Given the description of an element on the screen output the (x, y) to click on. 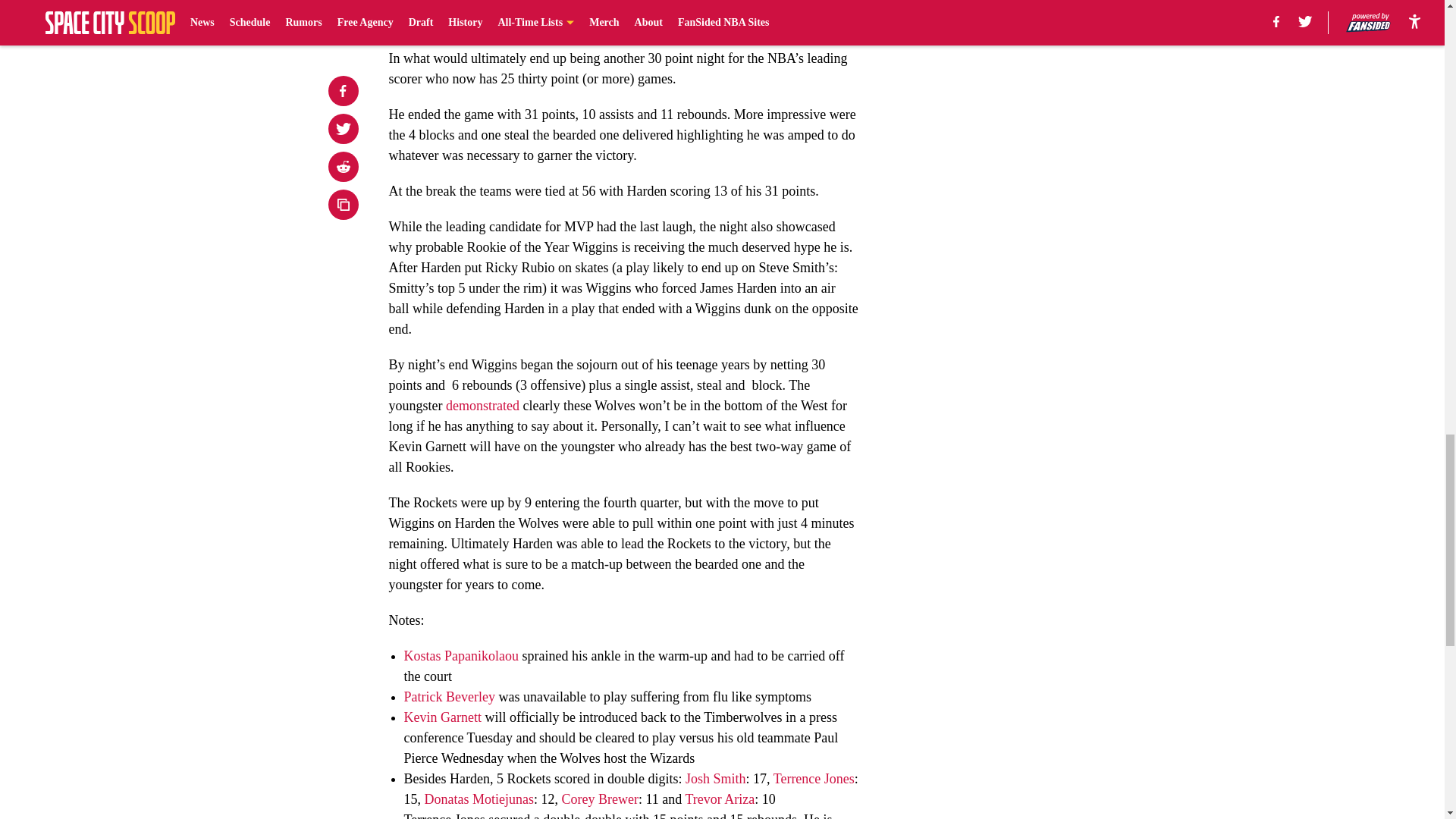
Kostas Papanikolaou (462, 655)
Corey Brewer (598, 798)
Terrence Jones (813, 778)
Patrick Beverley (449, 696)
demonstrated (482, 405)
Donatas Motiejunas (479, 798)
Trevor Ariza (719, 798)
Josh Smith (715, 778)
Kevin Garnett (441, 717)
